Given the description of an element on the screen output the (x, y) to click on. 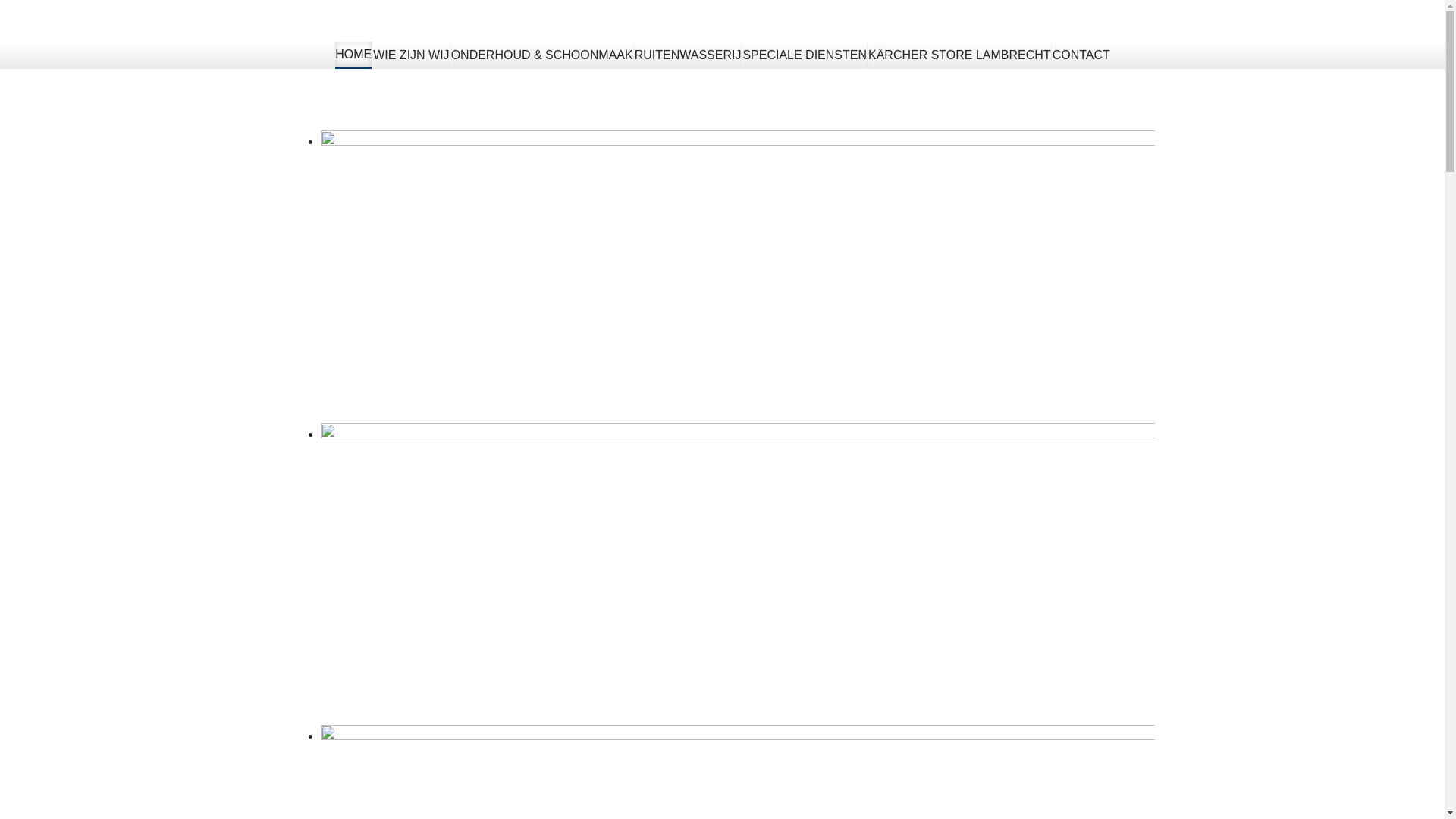
HOME Element type: text (353, 55)
ONDERHOUD & SCHOONMAAK Element type: text (542, 55)
WIE ZIJN WIJ Element type: text (410, 55)
RUITENWASSERIJ Element type: text (687, 55)
CONTACT Element type: text (1081, 55)
SPECIALE DIENSTEN Element type: text (804, 55)
